Given the description of an element on the screen output the (x, y) to click on. 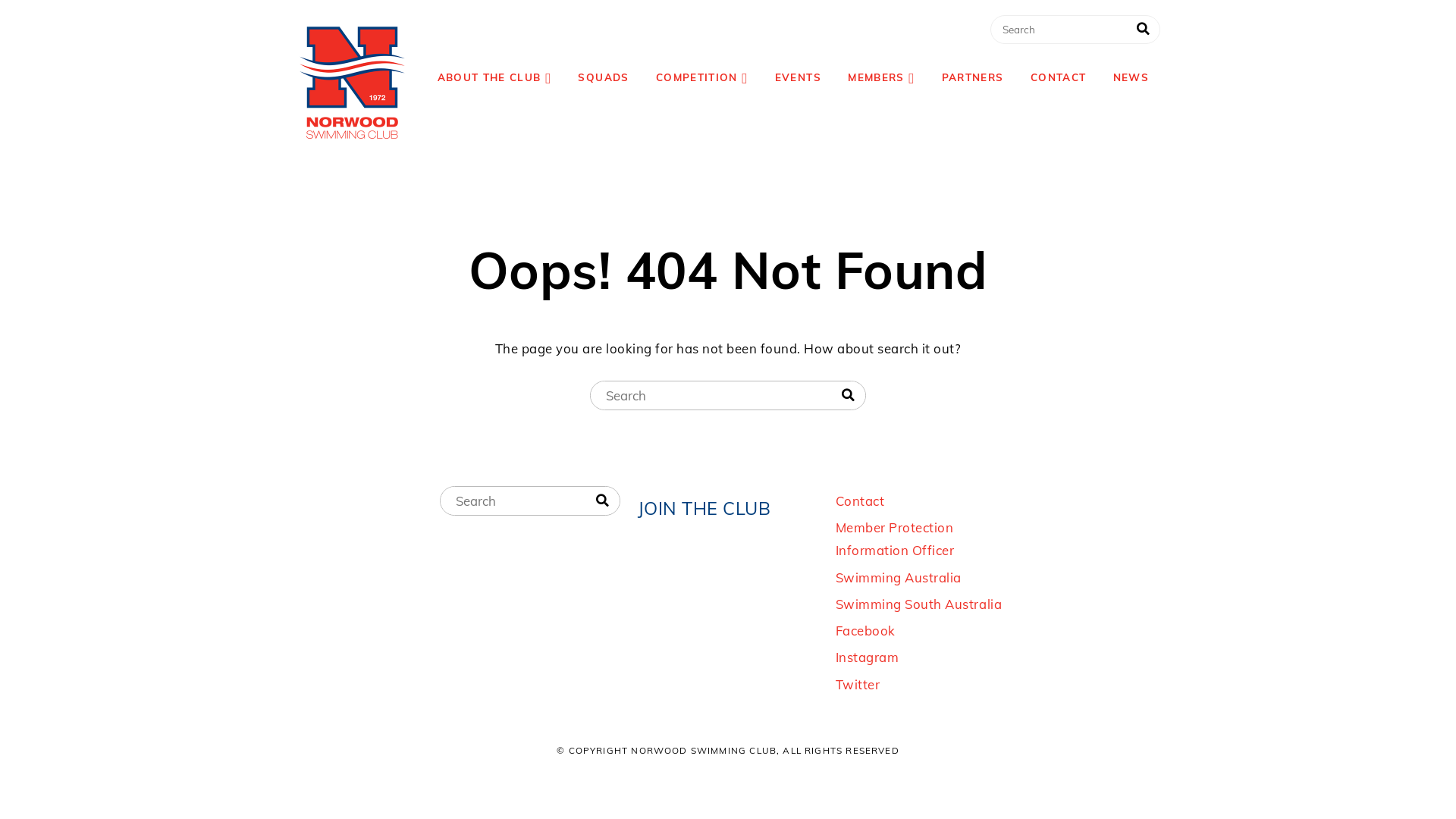
COMPETITION Element type: text (701, 76)
MEMBERS Element type: text (880, 76)
Contact Element type: text (859, 500)
NORWOOD SWIMMING CLUB Element type: text (528, 41)
Facebook Element type: text (865, 630)
NEWS Element type: text (1130, 76)
Instagram Element type: text (867, 657)
CONTACT Element type: text (1058, 76)
ABOUT THE CLUB Element type: text (494, 76)
Member Protection Information Officer Element type: text (894, 538)
SQUADS Element type: text (603, 76)
Swimming Australia Element type: text (898, 577)
EVENTS Element type: text (797, 76)
PARTNERS Element type: text (972, 76)
Twitter Element type: text (857, 684)
Swimming South Australia Element type: text (918, 603)
Norwood Swimming Club Element type: hover (352, 82)
